Given the description of an element on the screen output the (x, y) to click on. 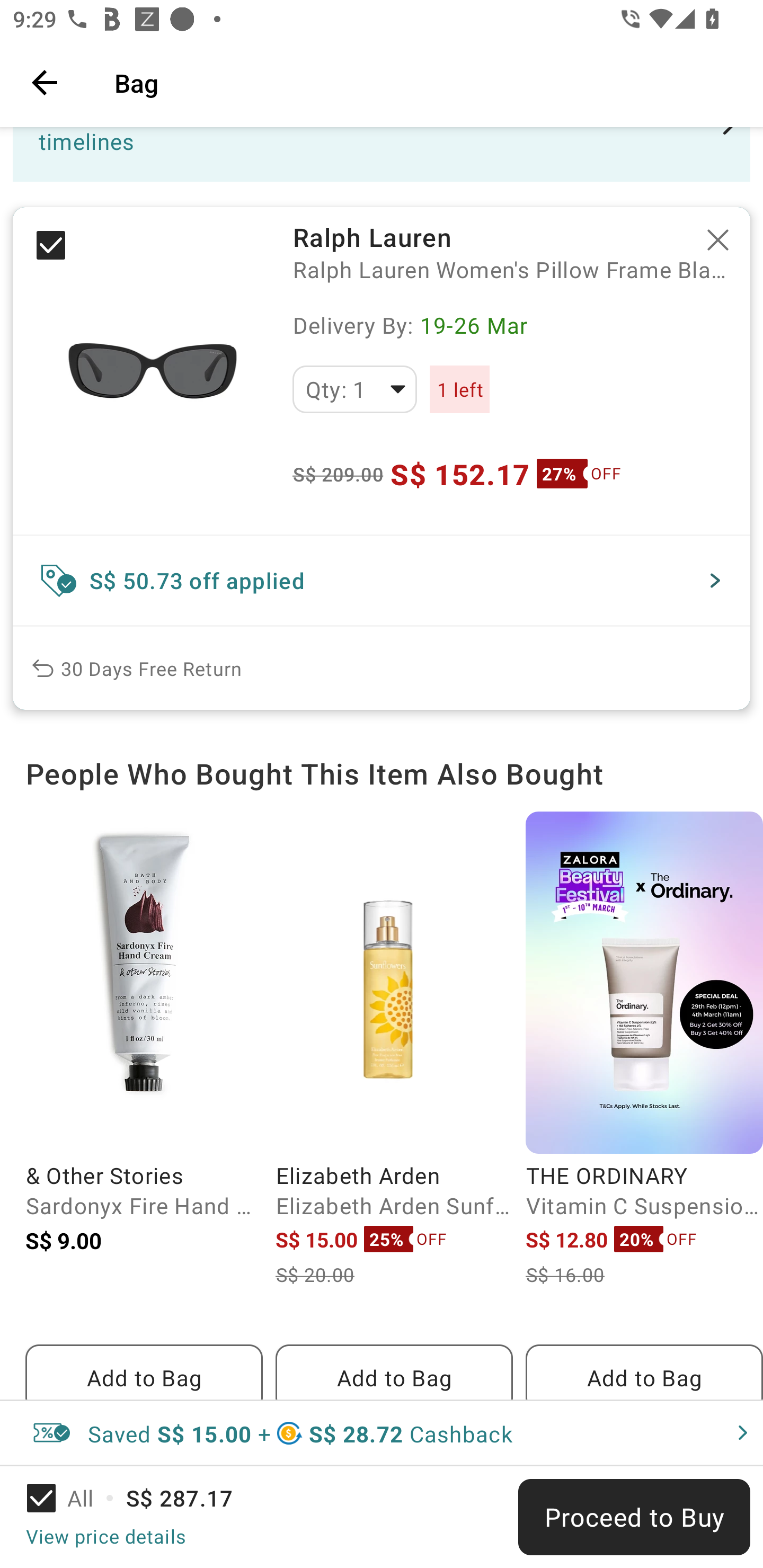
Navigate up (44, 82)
Bag (426, 82)
Qty: 1 (354, 389)
S$ 50.73 off applied (381, 580)
Add to Bag (143, 1371)
Add to Bag (393, 1371)
Add to Bag (644, 1371)
Saved S$ 15.00 +   S$ 28.72 Cashback (381, 1432)
All (72, 1497)
Proceed to Buy (634, 1516)
View price details (105, 1535)
